Given the description of an element on the screen output the (x, y) to click on. 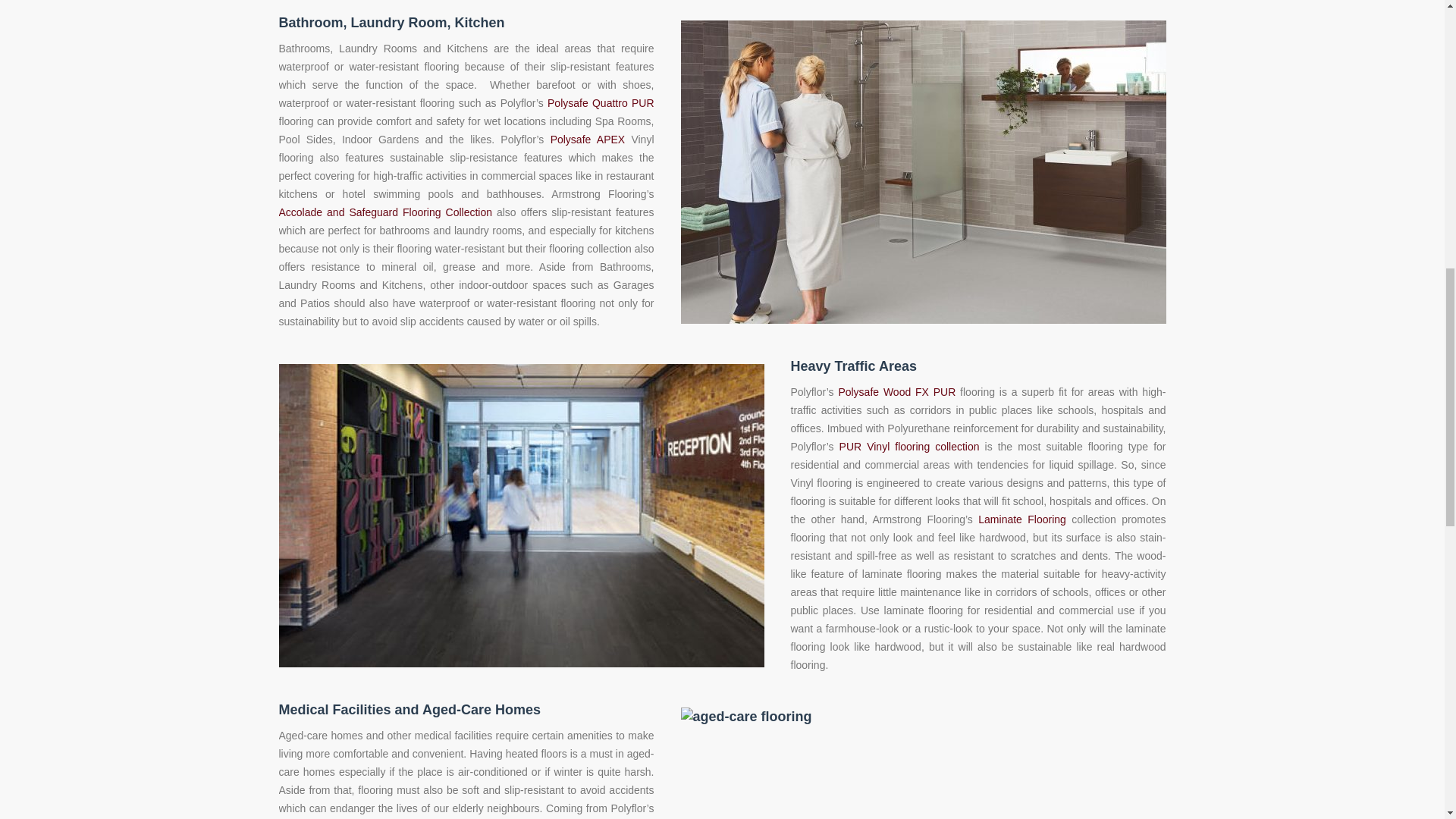
PUR Vinyl flooring collection (909, 446)
Polysafe Quattro PUR (600, 102)
Accolade and Safeguard Flooring Collection (386, 212)
Laminate Flooring (1021, 519)
Polysafe Wood FX PUR (896, 391)
Polysafe APEX (588, 139)
